Given the description of an element on the screen output the (x, y) to click on. 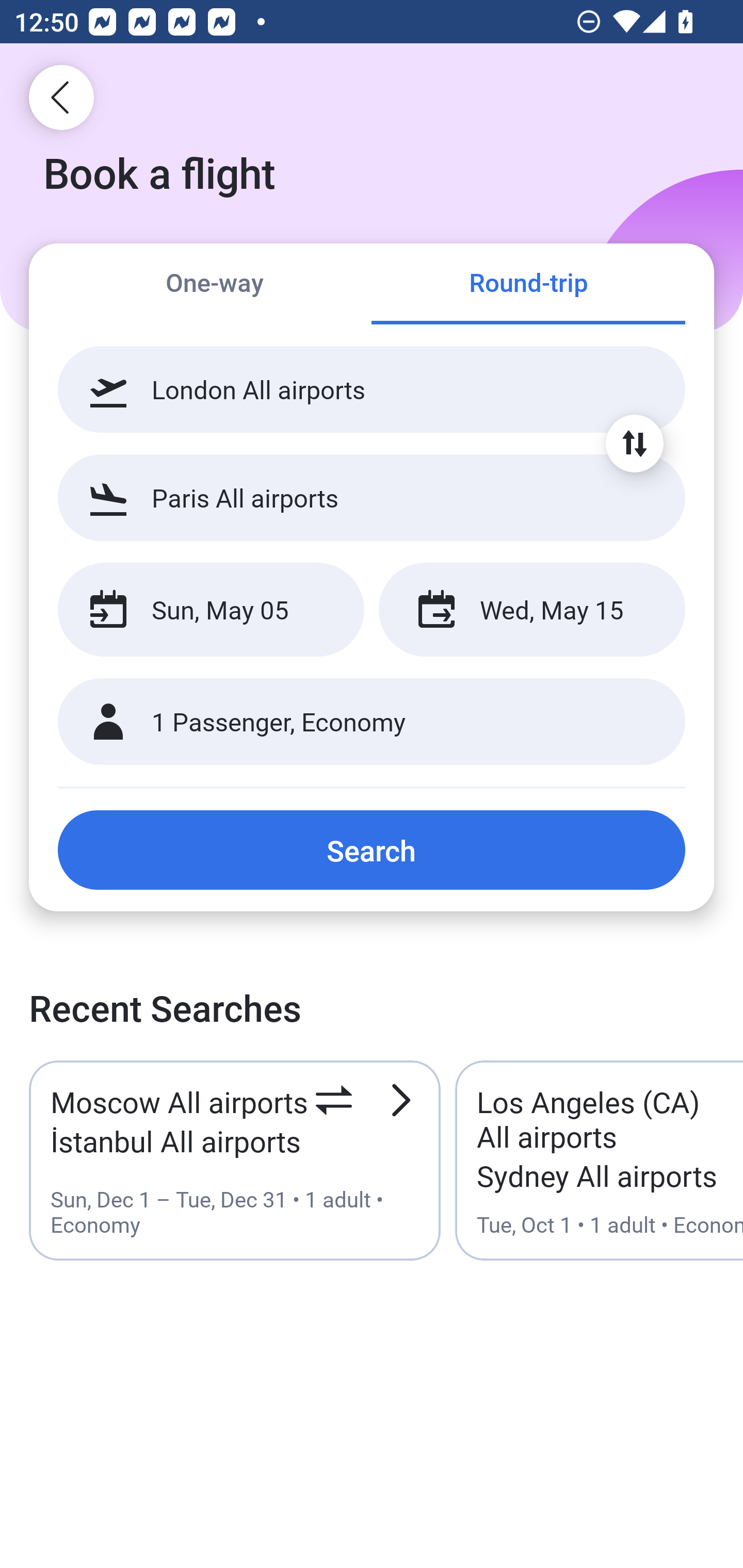
One-way (214, 284)
London All airports (371, 389)
Paris All airports (371, 497)
Sun, May 05 (210, 609)
Wed, May 15 (531, 609)
1 Passenger, Economy (371, 721)
Search (371, 849)
